Given the description of an element on the screen output the (x, y) to click on. 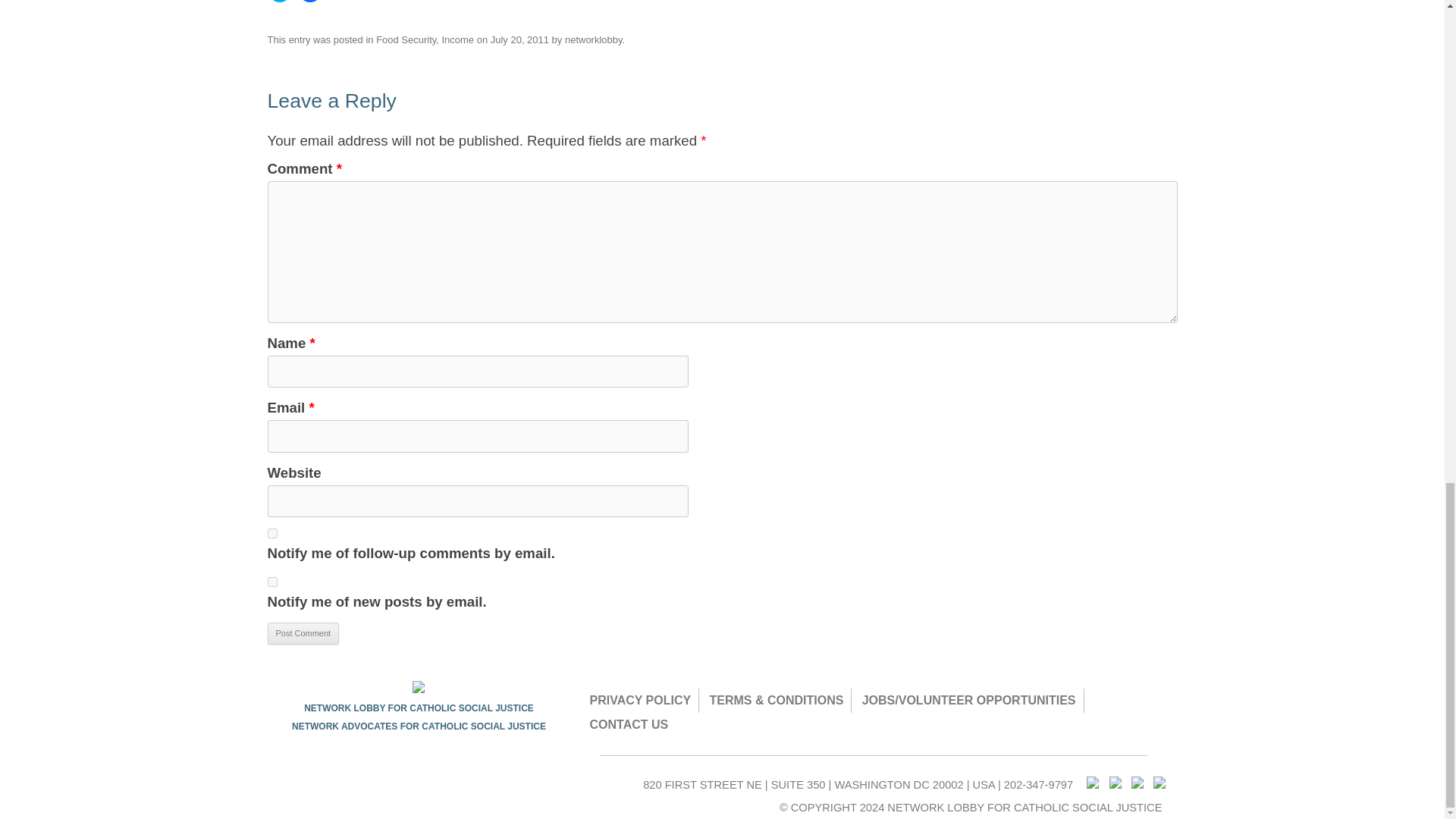
Click to share on Facebook (309, 1)
Click to share on Twitter (278, 1)
subscribe (271, 582)
Post Comment (302, 633)
3:00 pm (519, 39)
View all posts by networklobby (593, 39)
subscribe (271, 533)
